Given the description of an element on the screen output the (x, y) to click on. 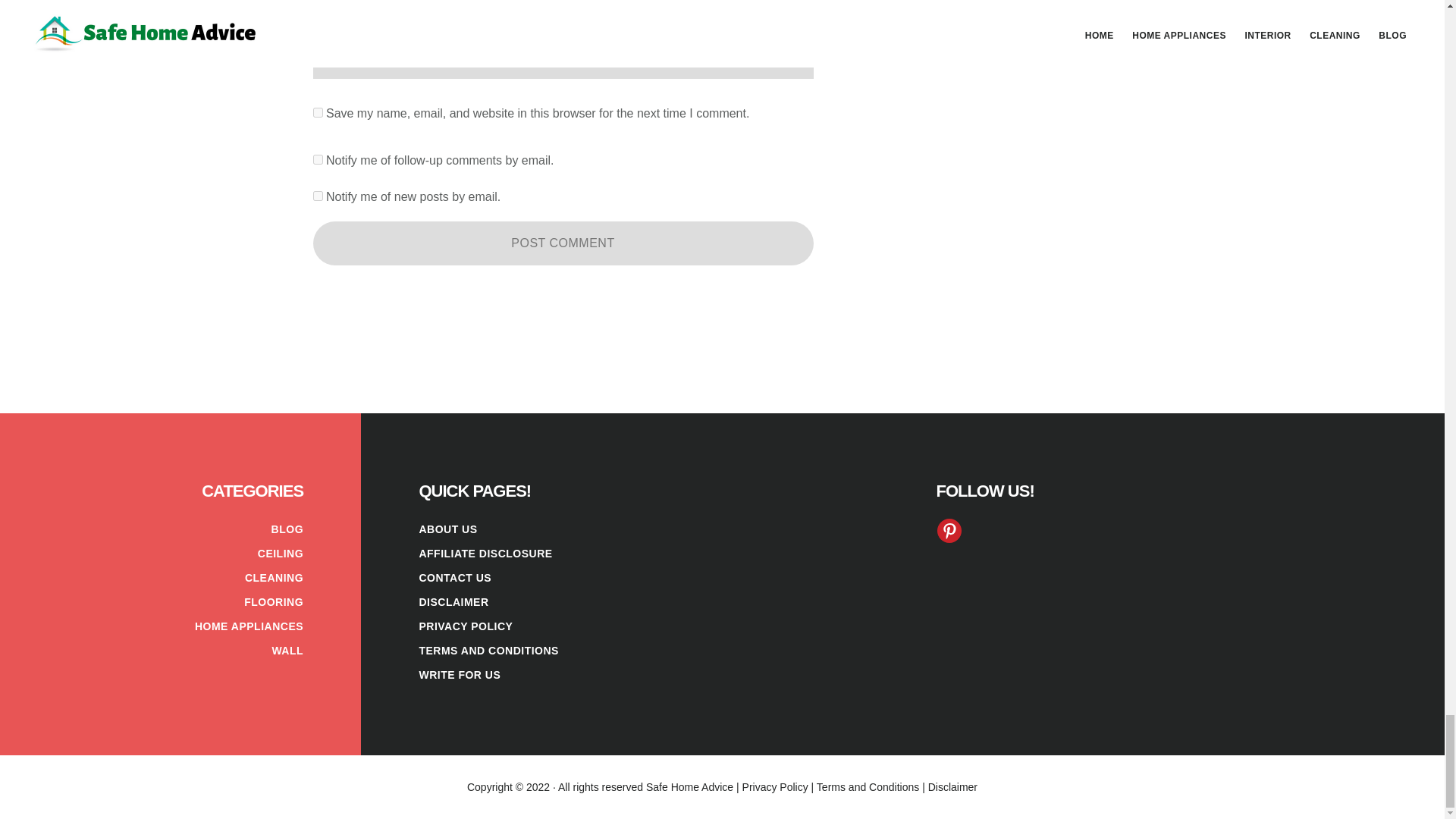
Post Comment (562, 243)
subscribe (317, 159)
yes (317, 112)
subscribe (317, 195)
